Given the description of an element on the screen output the (x, y) to click on. 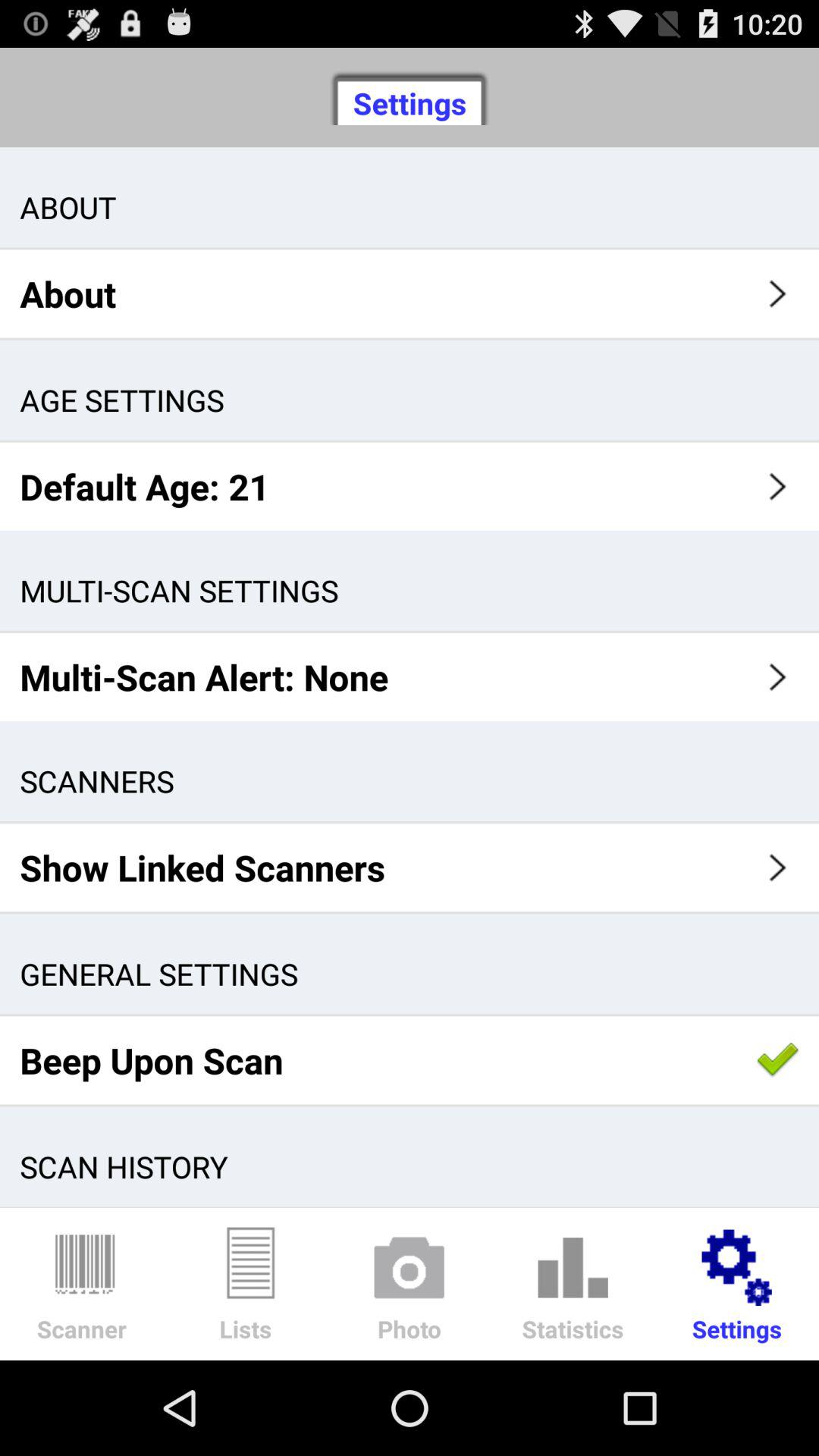
open icon above the multi-scan settings (409, 486)
